Given the description of an element on the screen output the (x, y) to click on. 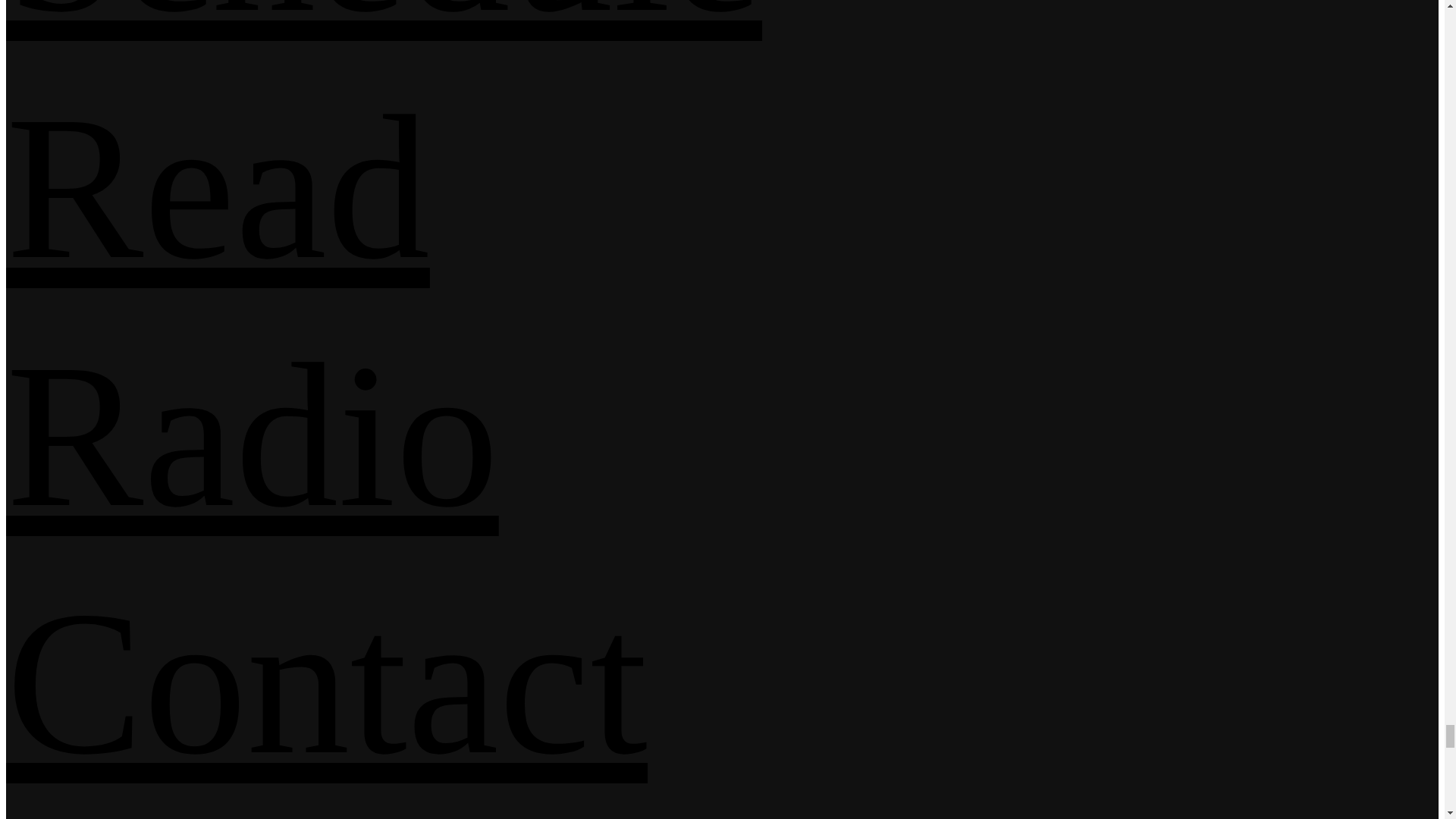
Schedule (383, 27)
Read (217, 187)
Radio (252, 435)
